Given the description of an element on the screen output the (x, y) to click on. 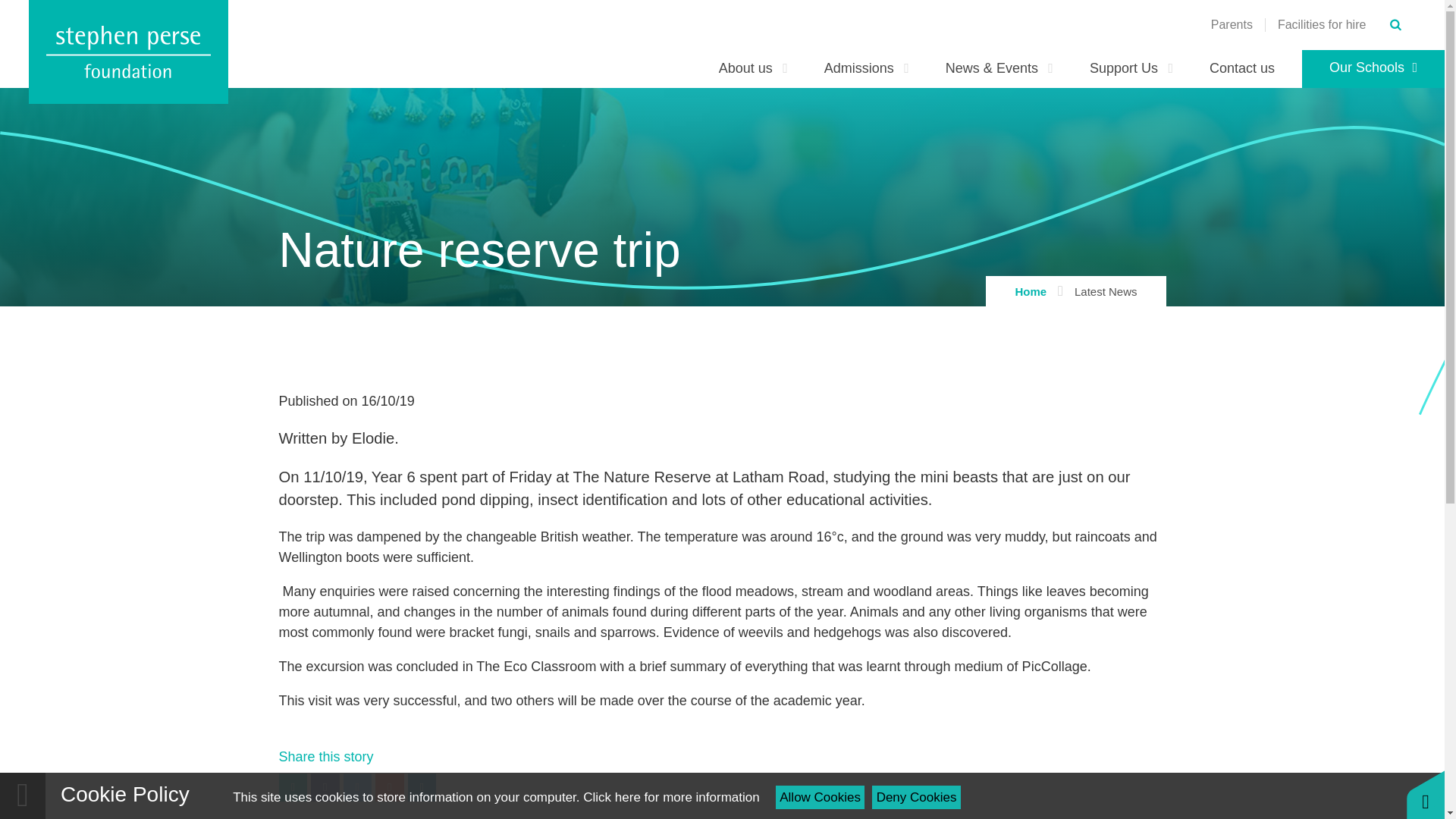
home (128, 52)
Parents (1231, 24)
Admissions (866, 67)
See cookie policy (670, 797)
Facilities for hire (1321, 24)
Allow Cookies (820, 797)
About us (753, 67)
